Given the description of an element on the screen output the (x, y) to click on. 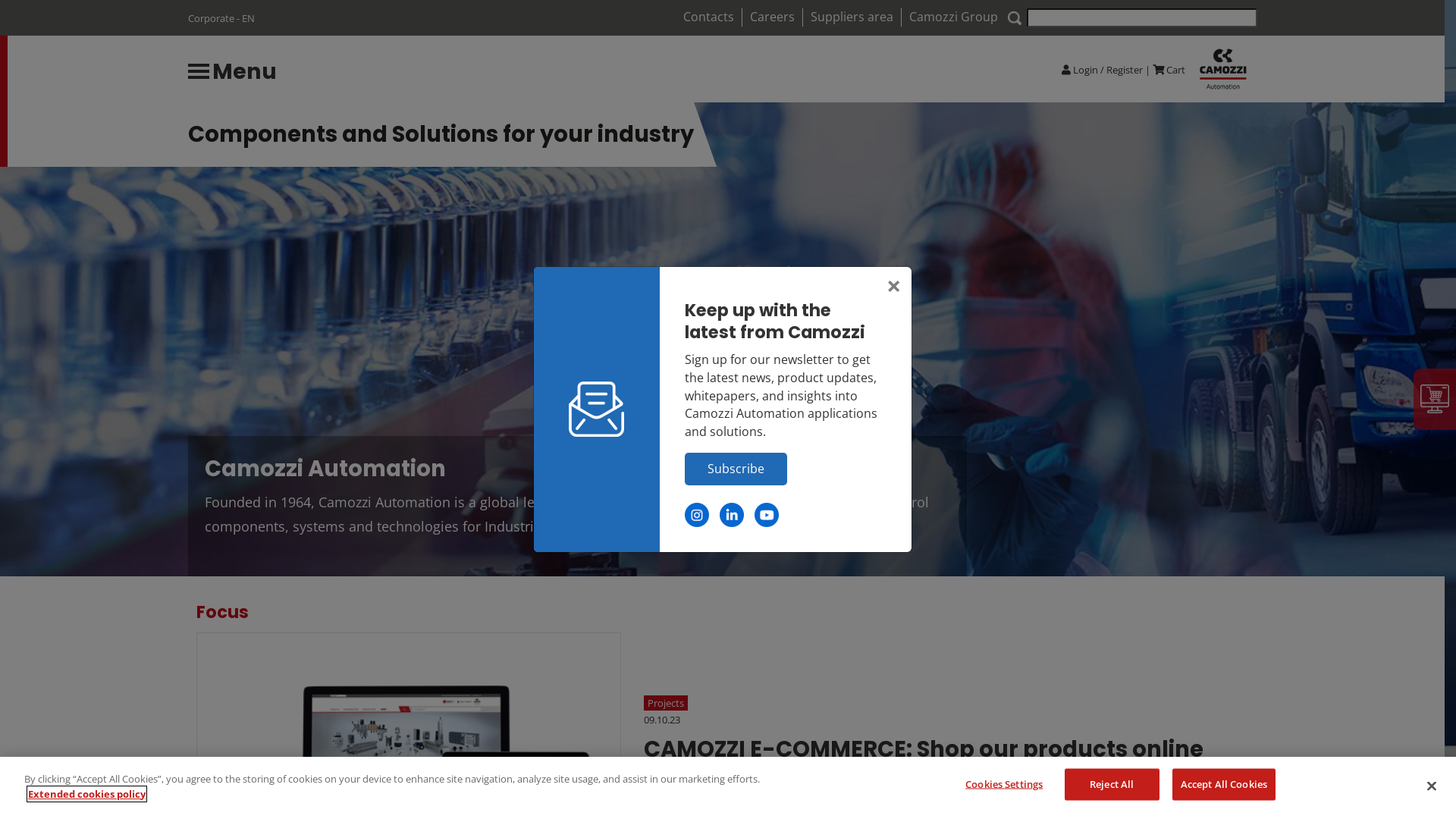
CAMOZZI E-COMMERCE: Shop our products online now! Element type: text (945, 763)
Esegui ricerca Element type: hover (1014, 17)
Extended cookies policy Element type: text (86, 793)
Cookies Settings Element type: text (1004, 783)
Reject All Element type: text (1111, 784)
Camozzi Group Element type: text (953, 16)
Search Element type: hover (1141, 17)
Corporate - EN Element type: text (221, 17)
Careers Element type: text (771, 16)
Login / Register Element type: text (1107, 69)
Camozzi Automation Element type: text (577, 468)
Subscribe Element type: text (735, 469)
Contacts Element type: text (708, 16)
Accept All Cookies Element type: text (1223, 784)
Suppliers area Element type: text (851, 16)
 Industrial Solutions | Camozzi Automation Element type: hover (1221, 69)
Cart Element type: text (1175, 69)
